Given the description of an element on the screen output the (x, y) to click on. 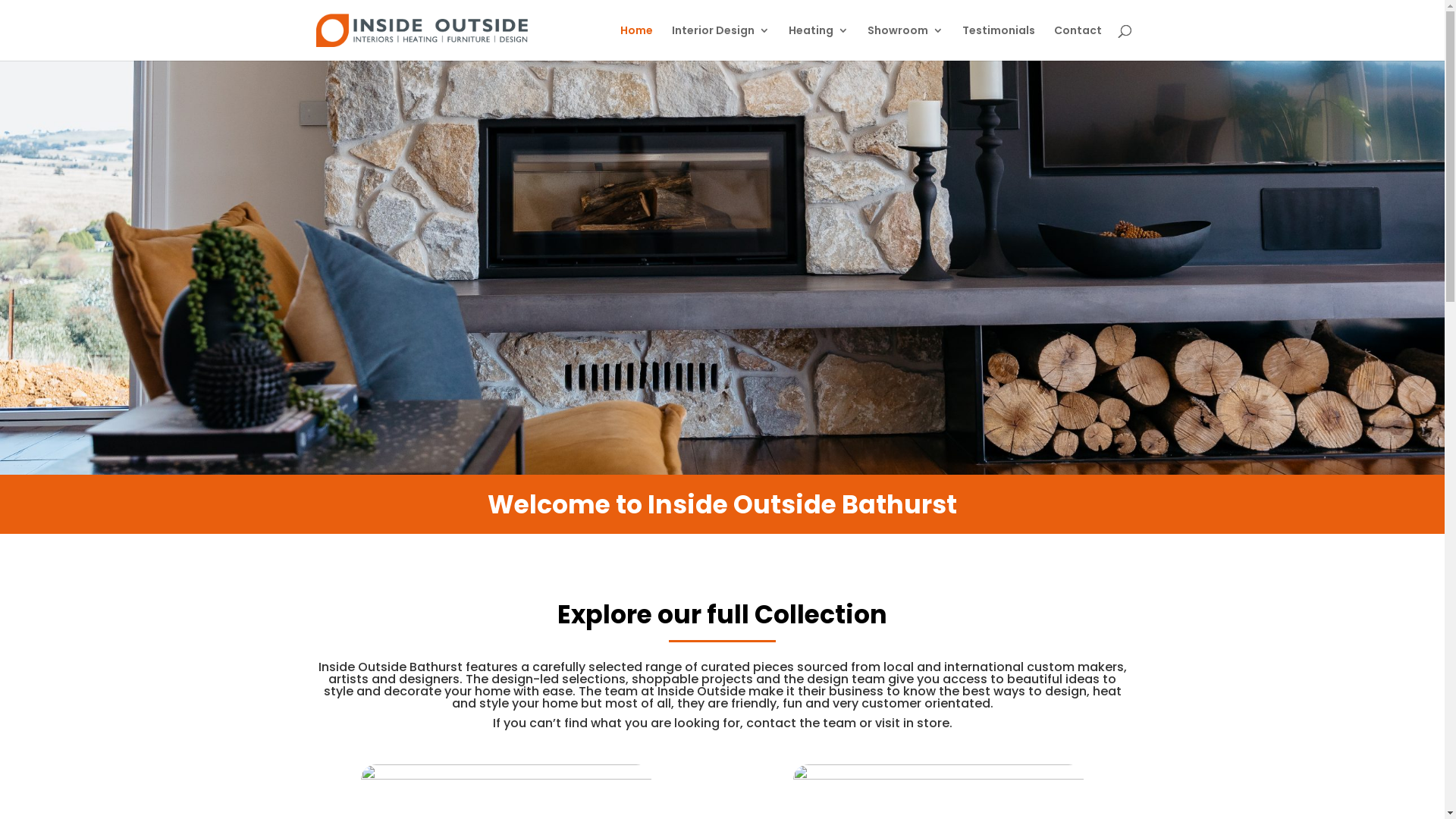
Home Element type: text (636, 42)
Contact Element type: text (1077, 42)
Showroom Element type: text (905, 42)
Testimonials Element type: text (997, 42)
Interior Design Element type: text (720, 42)
Heating Element type: text (818, 42)
